Given the description of an element on the screen output the (x, y) to click on. 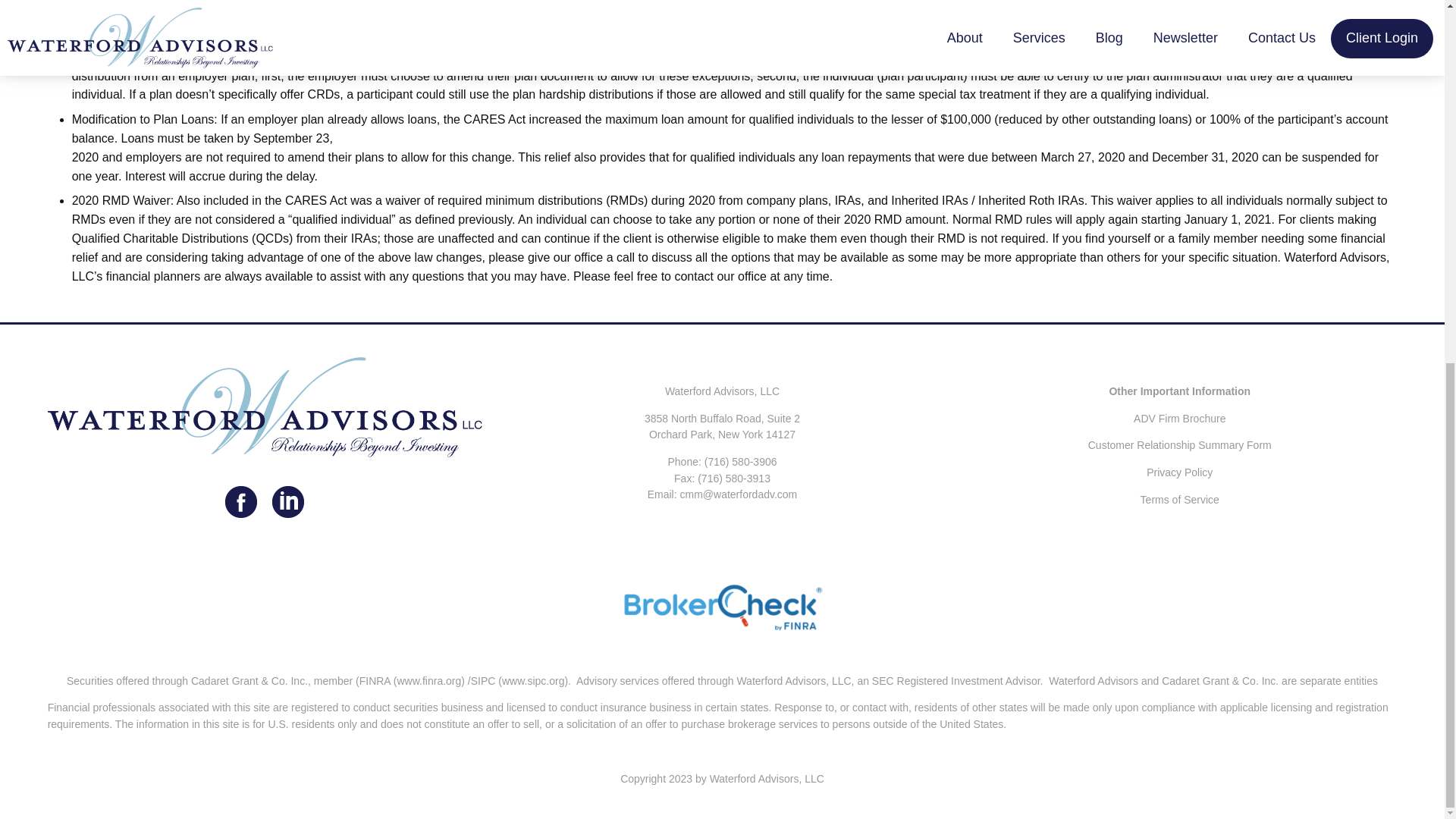
Customer Relationship Summary Form (1179, 444)
www.finra.org (428, 680)
Privacy Policy (1179, 472)
ADV Firm Brochure (1179, 418)
www.sipc.org (533, 680)
Terms of Service (1180, 499)
